Given the description of an element on the screen output the (x, y) to click on. 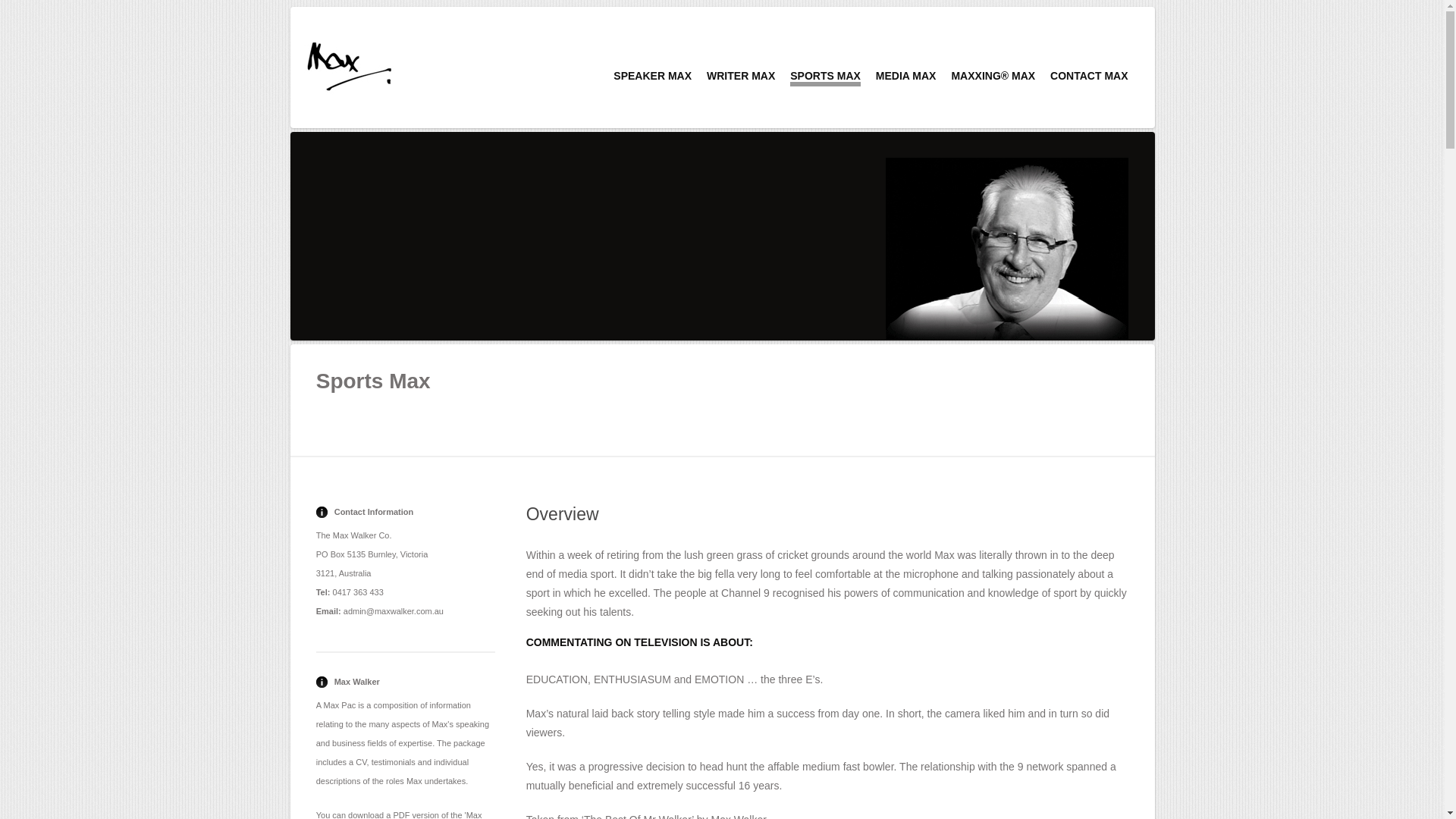
SPORTS MAX Element type: text (825, 77)
CONTACT MAX Element type: text (1088, 75)
Max Walker Element type: text (349, 65)
WRITER MAX Element type: text (740, 75)
SPEAKER MAX Element type: text (652, 75)
MEDIA MAX Element type: text (905, 75)
